Given the description of an element on the screen output the (x, y) to click on. 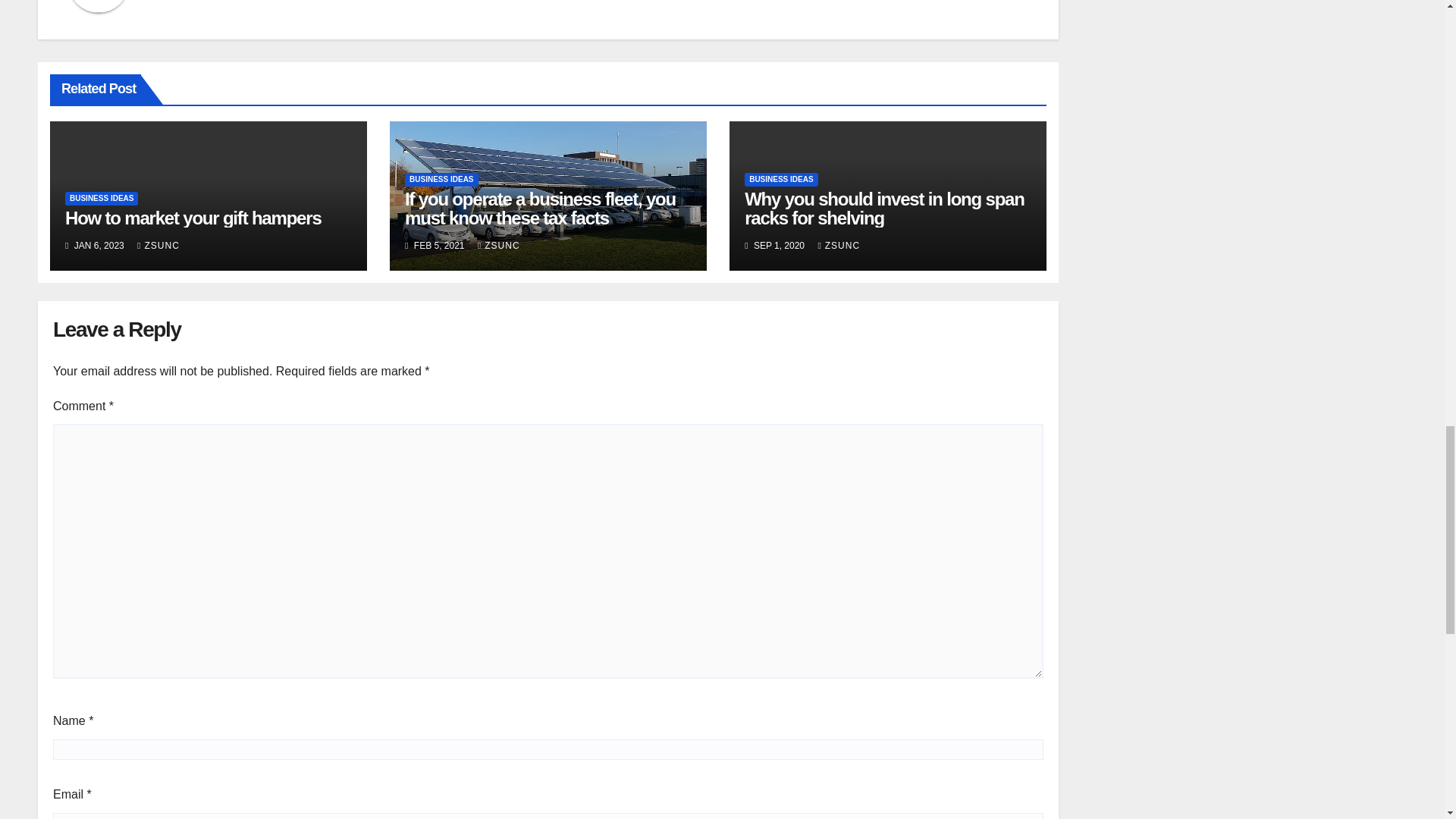
BUSINESS IDEAS (101, 198)
BUSINESS IDEAS (440, 179)
ZSUNC (157, 245)
Permalink to: How to market your gift hampers (193, 218)
How to market your gift hampers (193, 218)
